Given the description of an element on the screen output the (x, y) to click on. 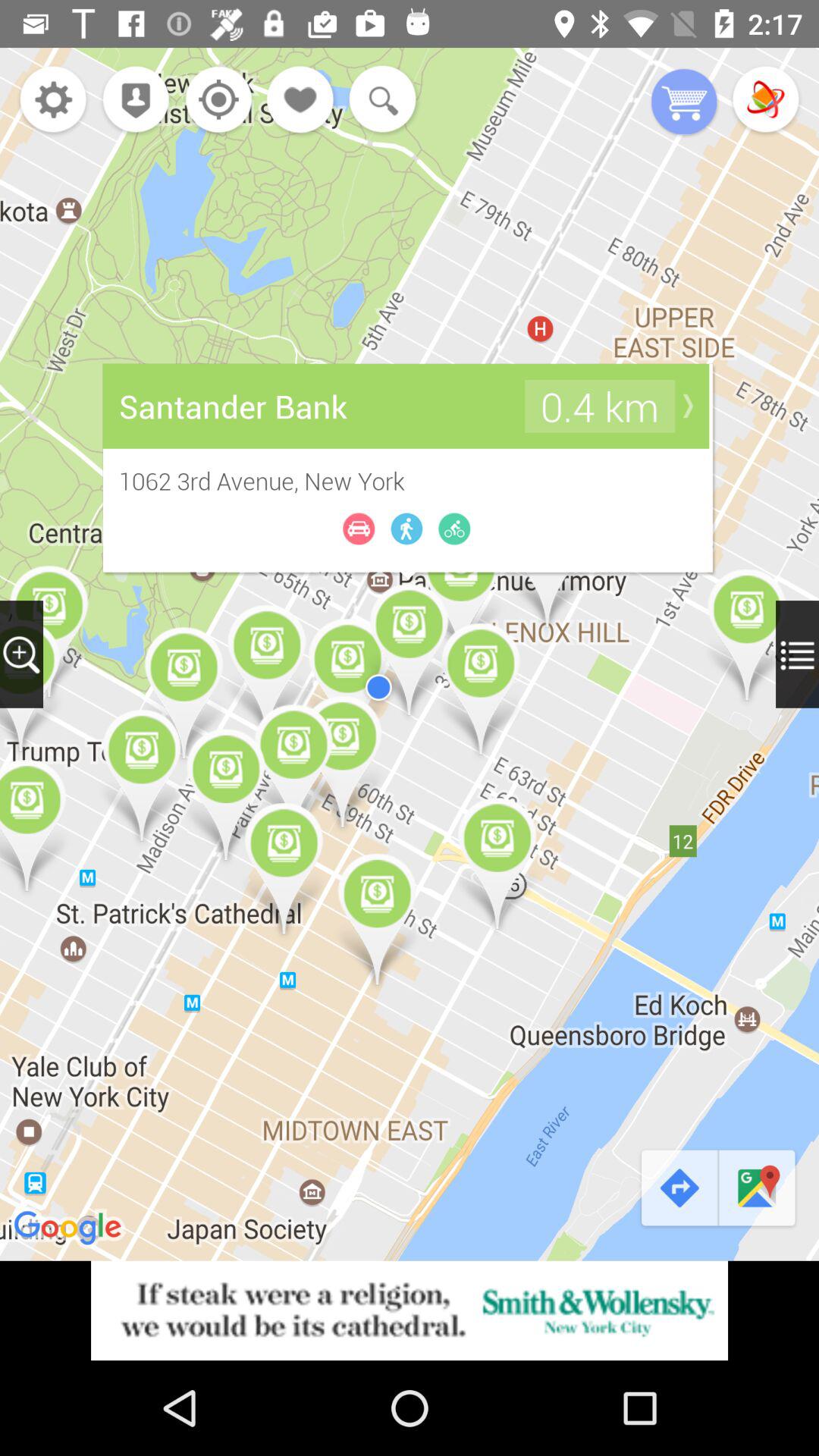
go to settings (52, 100)
